Given the description of an element on the screen output the (x, y) to click on. 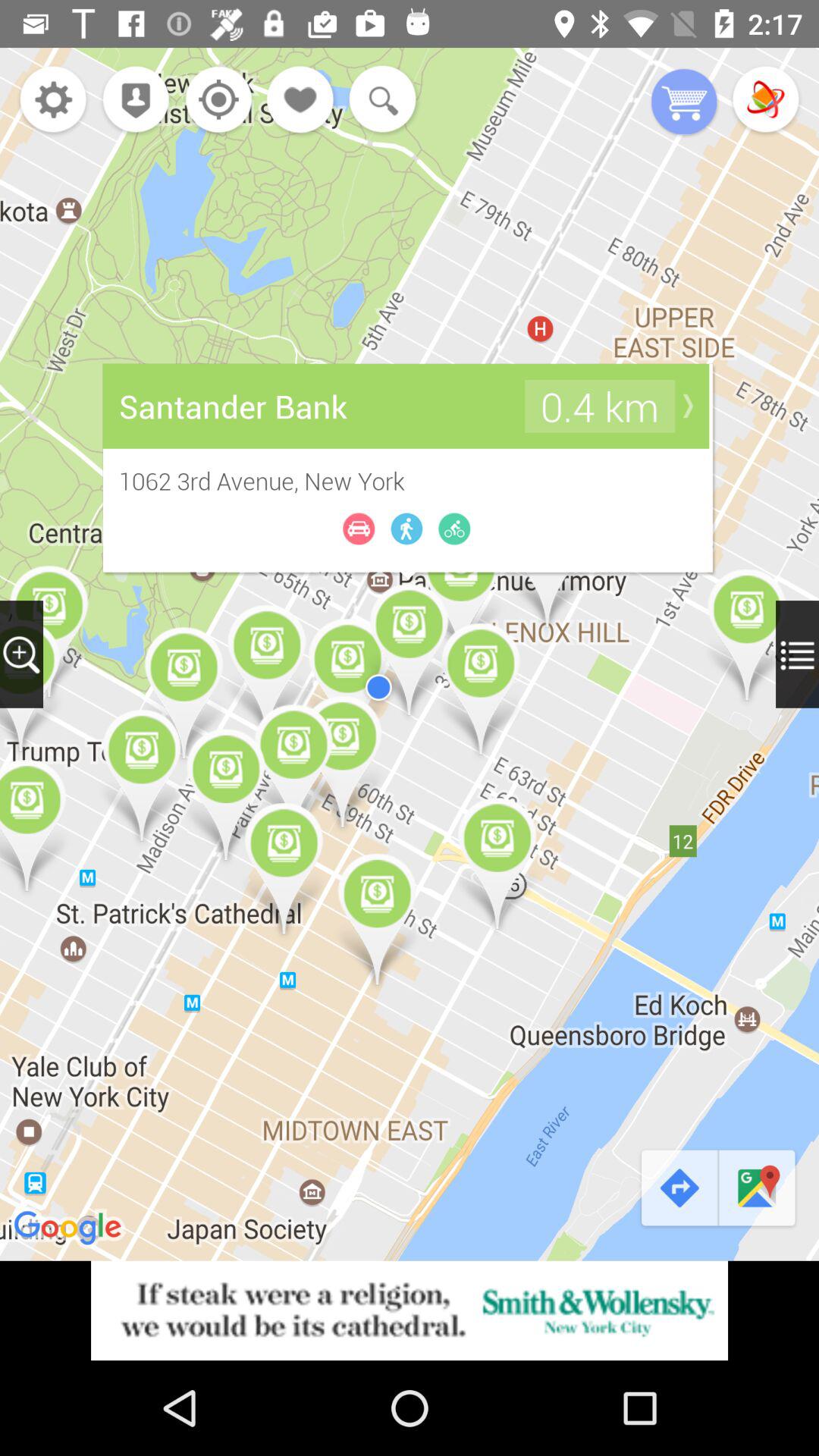
go to settings (52, 100)
